Given the description of an element on the screen output the (x, y) to click on. 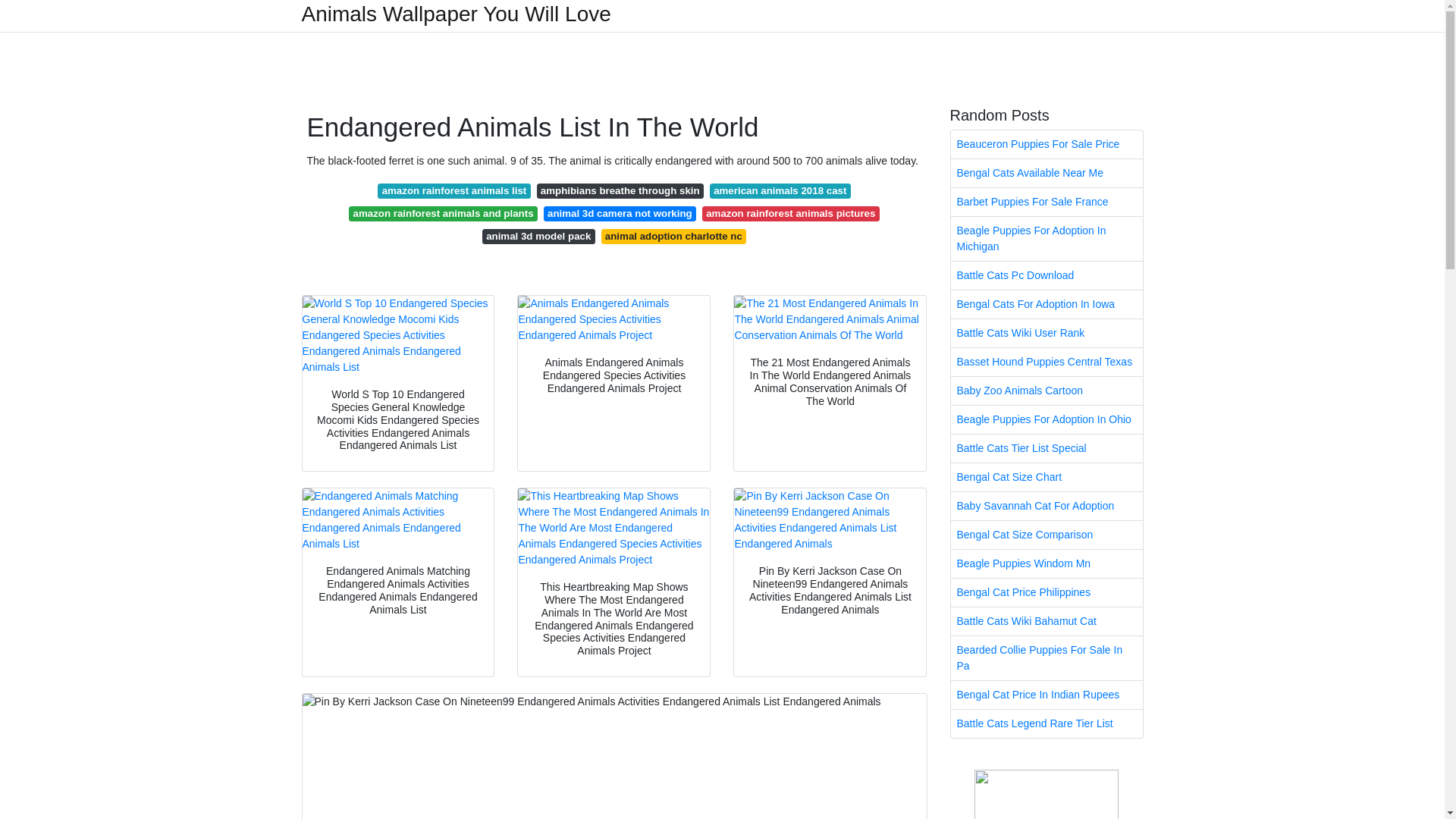
Battle Cats Wiki User Rank (1046, 333)
Bengal Cats For Adoption In Iowa (1046, 304)
amazon rainforest animals pictures (790, 213)
Barbet Puppies For Sale France (1046, 202)
Battle Cats Pc Download (1046, 275)
american animals 2018 cast (780, 191)
amphibians breathe through skin (620, 191)
Beauceron Puppies For Sale Price (1046, 144)
animal adoption charlotte nc (673, 236)
Animals Wallpaper You Will Love (456, 13)
